Given the description of an element on the screen output the (x, y) to click on. 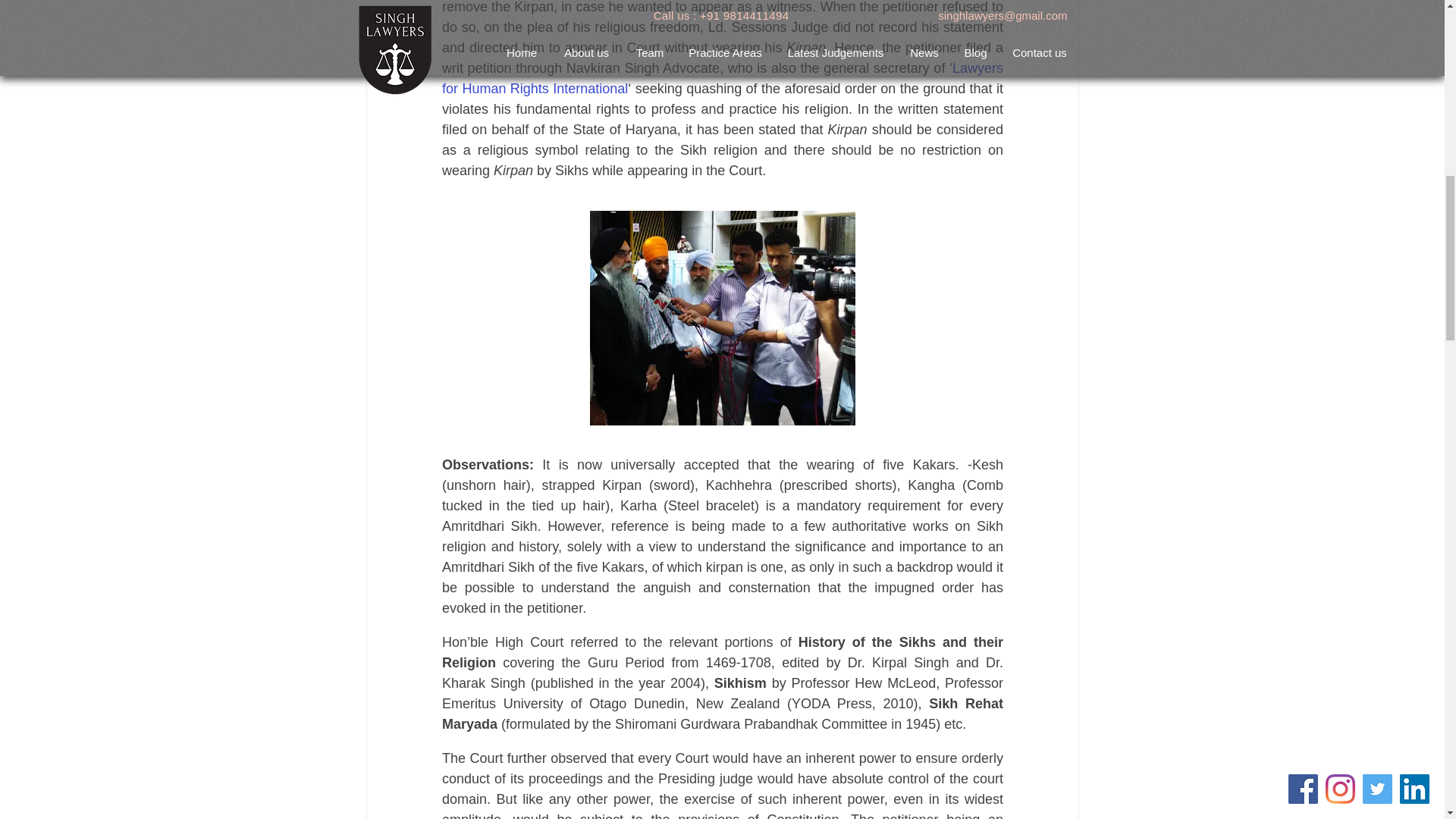
Lawyers for Human Rights International (723, 78)
